Given the description of an element on the screen output the (x, y) to click on. 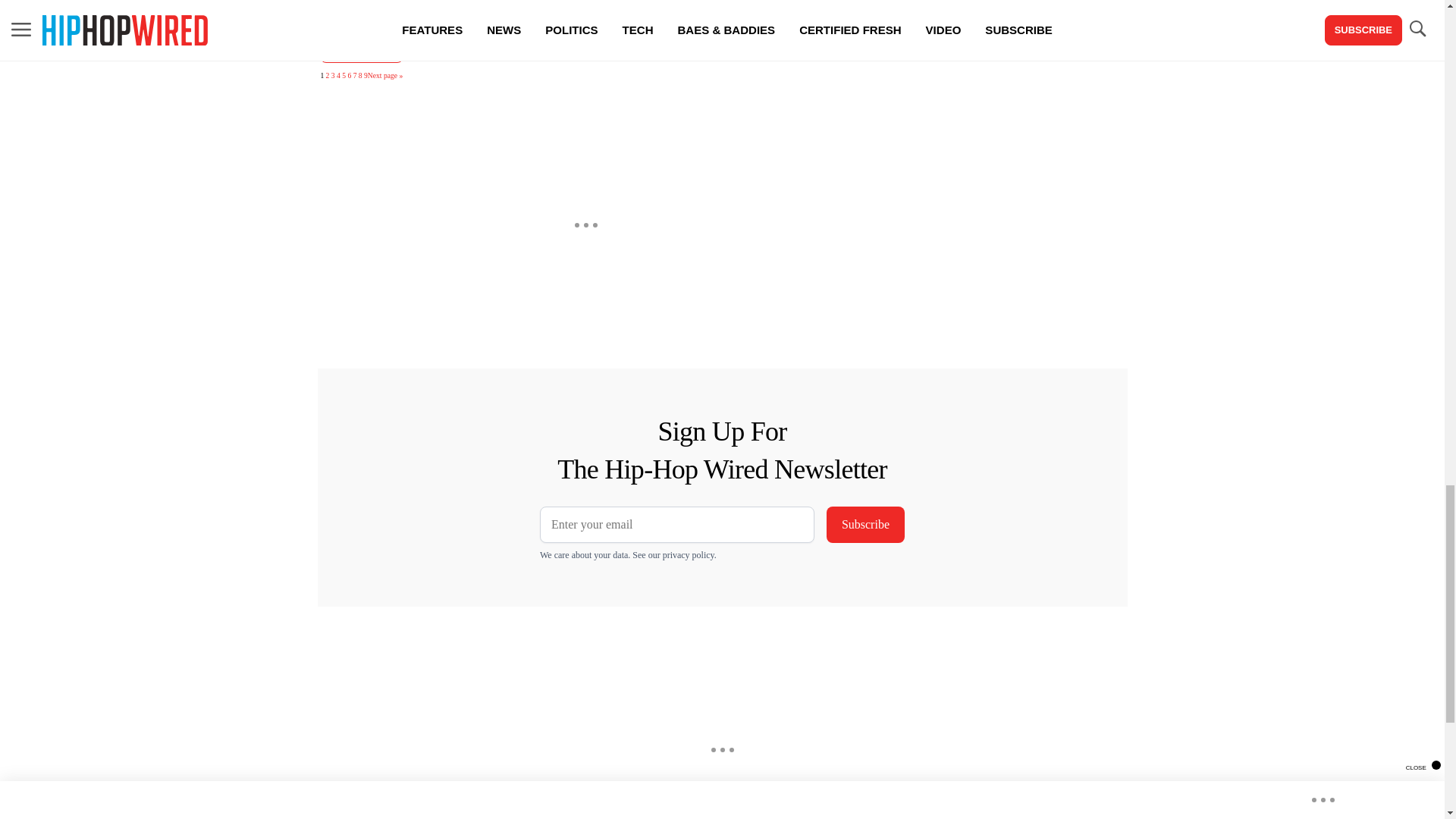
Subscribe (865, 524)
TELEVISION (361, 49)
privacy policy (688, 554)
